Given the description of an element on the screen output the (x, y) to click on. 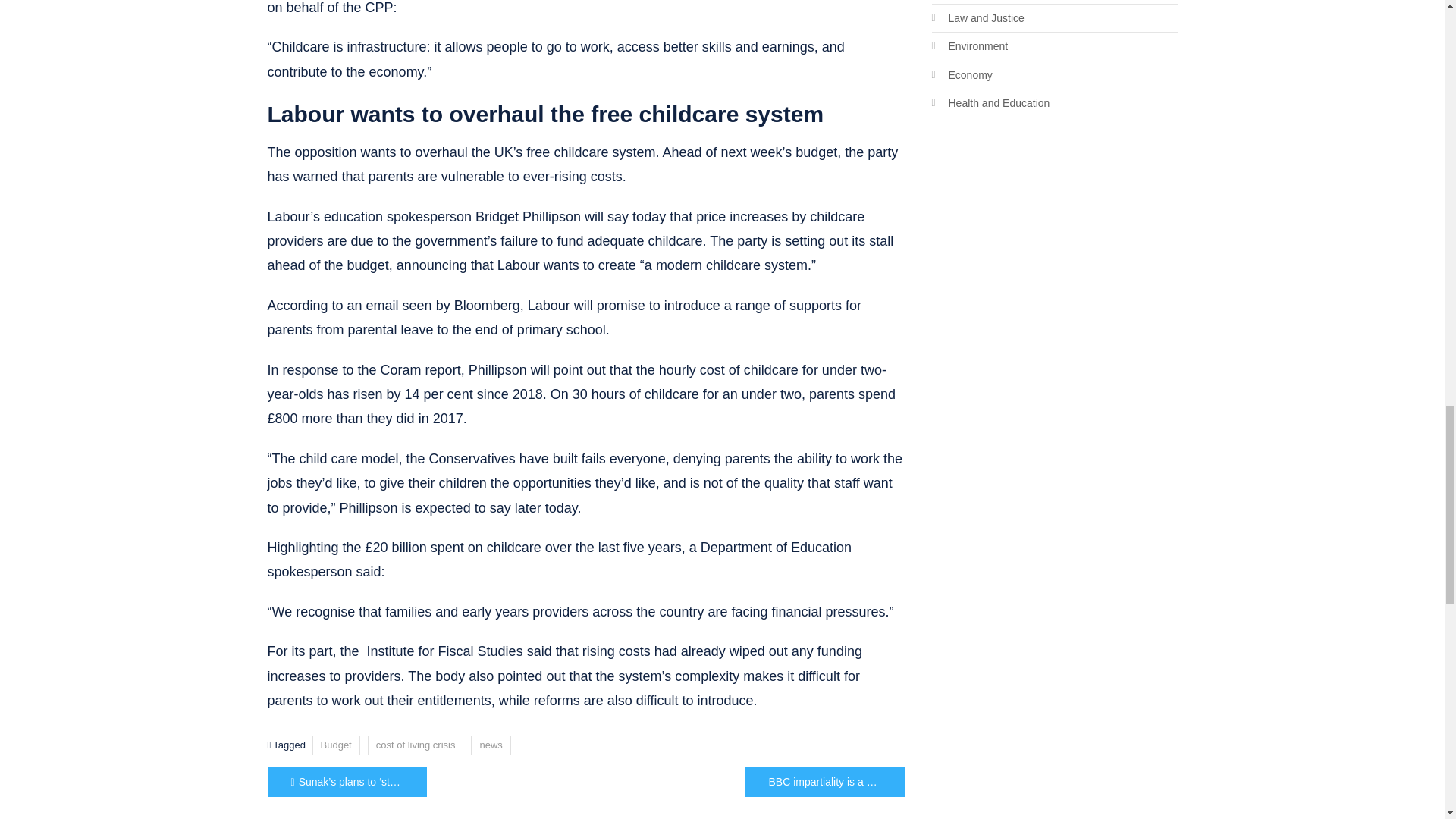
news (490, 744)
Budget (336, 744)
cost of living crisis (416, 744)
